Given the description of an element on the screen output the (x, y) to click on. 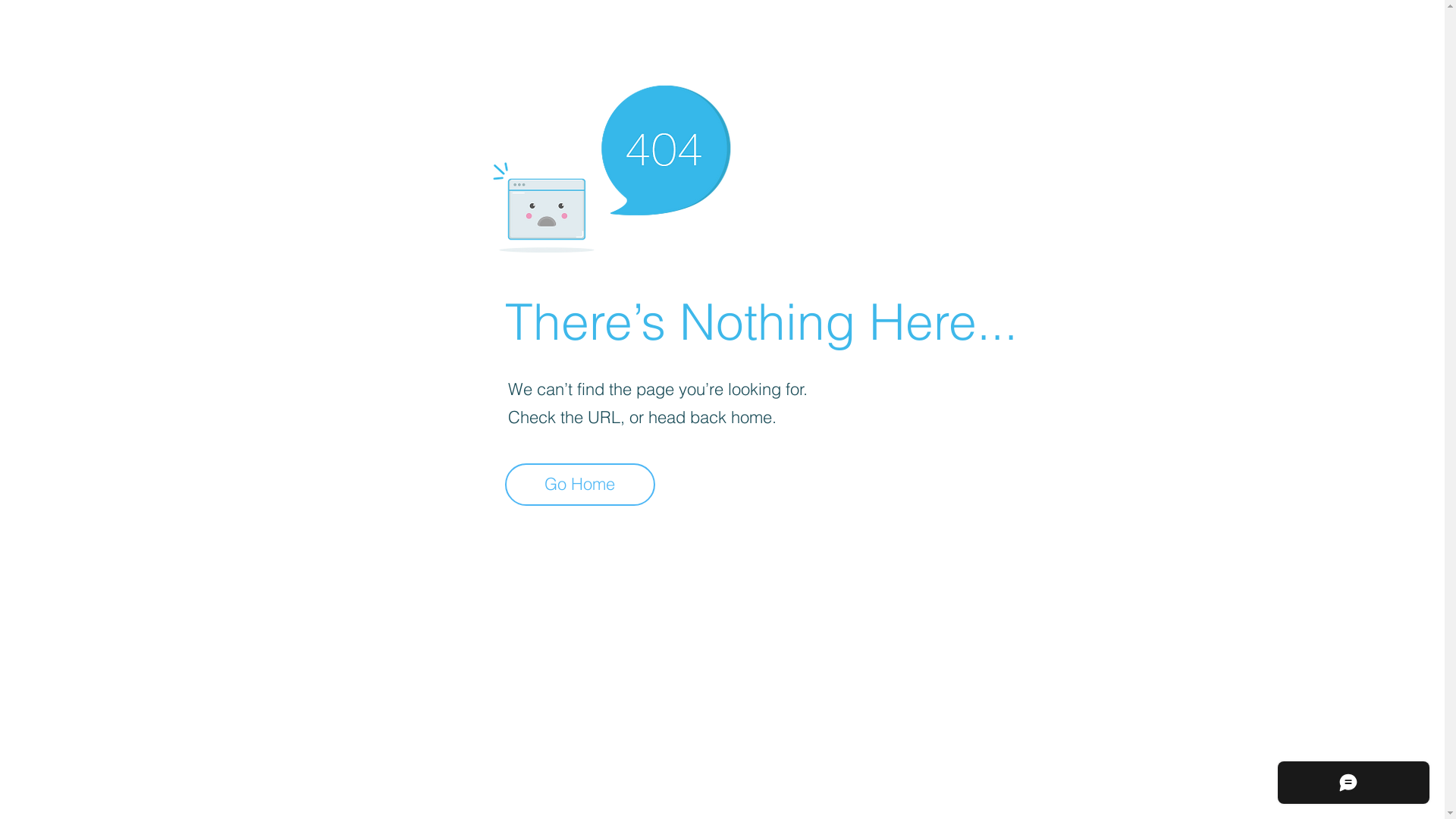
Go Home Element type: text (580, 484)
404-icon_2.png Element type: hover (610, 164)
